Given the description of an element on the screen output the (x, y) to click on. 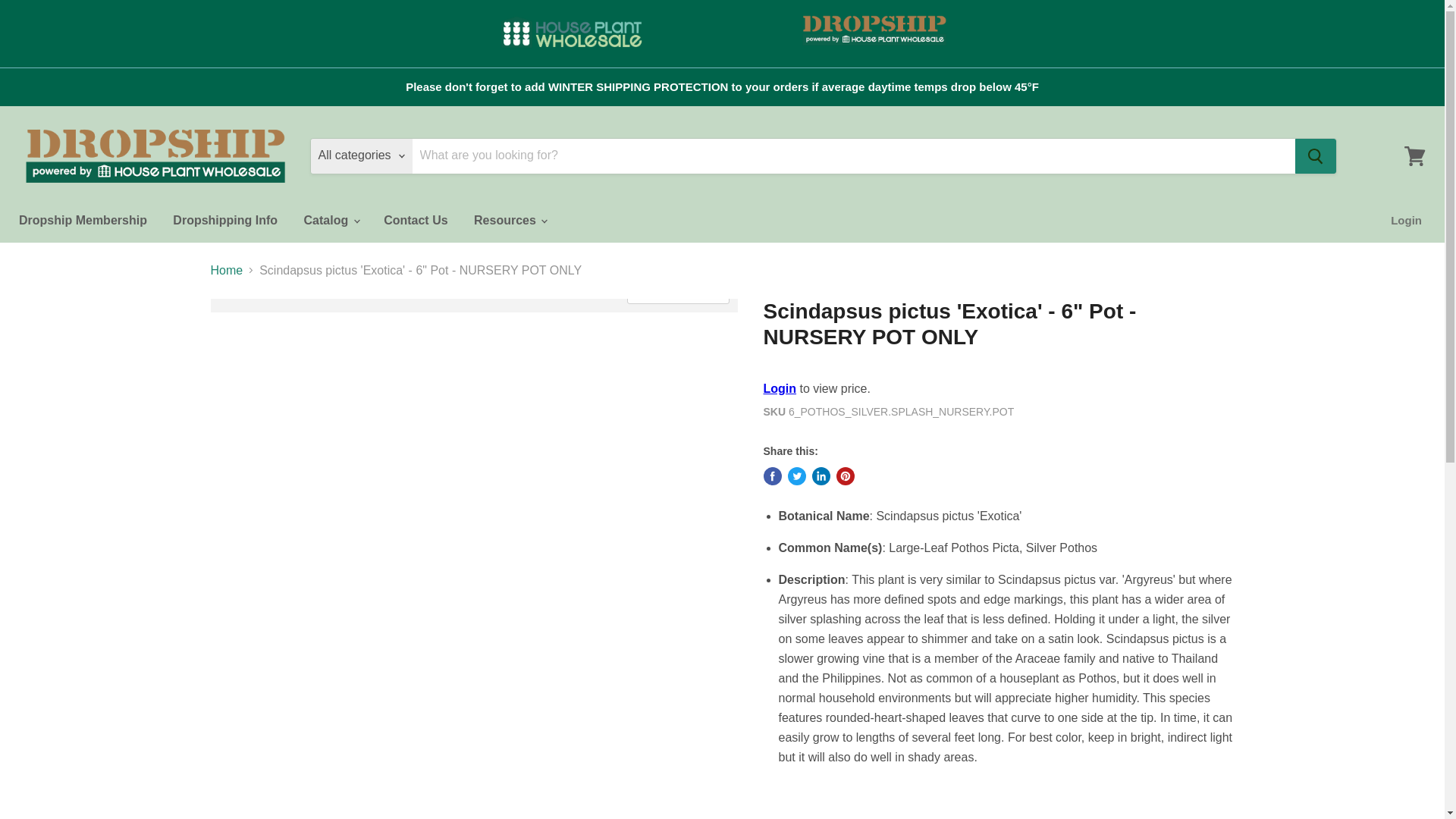
Login (1406, 220)
Catalog (330, 220)
Contact Us (415, 220)
View cart (1414, 155)
Dropship Membership (82, 220)
Dropshipping Info (224, 220)
Resources (509, 220)
